Given the description of an element on the screen output the (x, y) to click on. 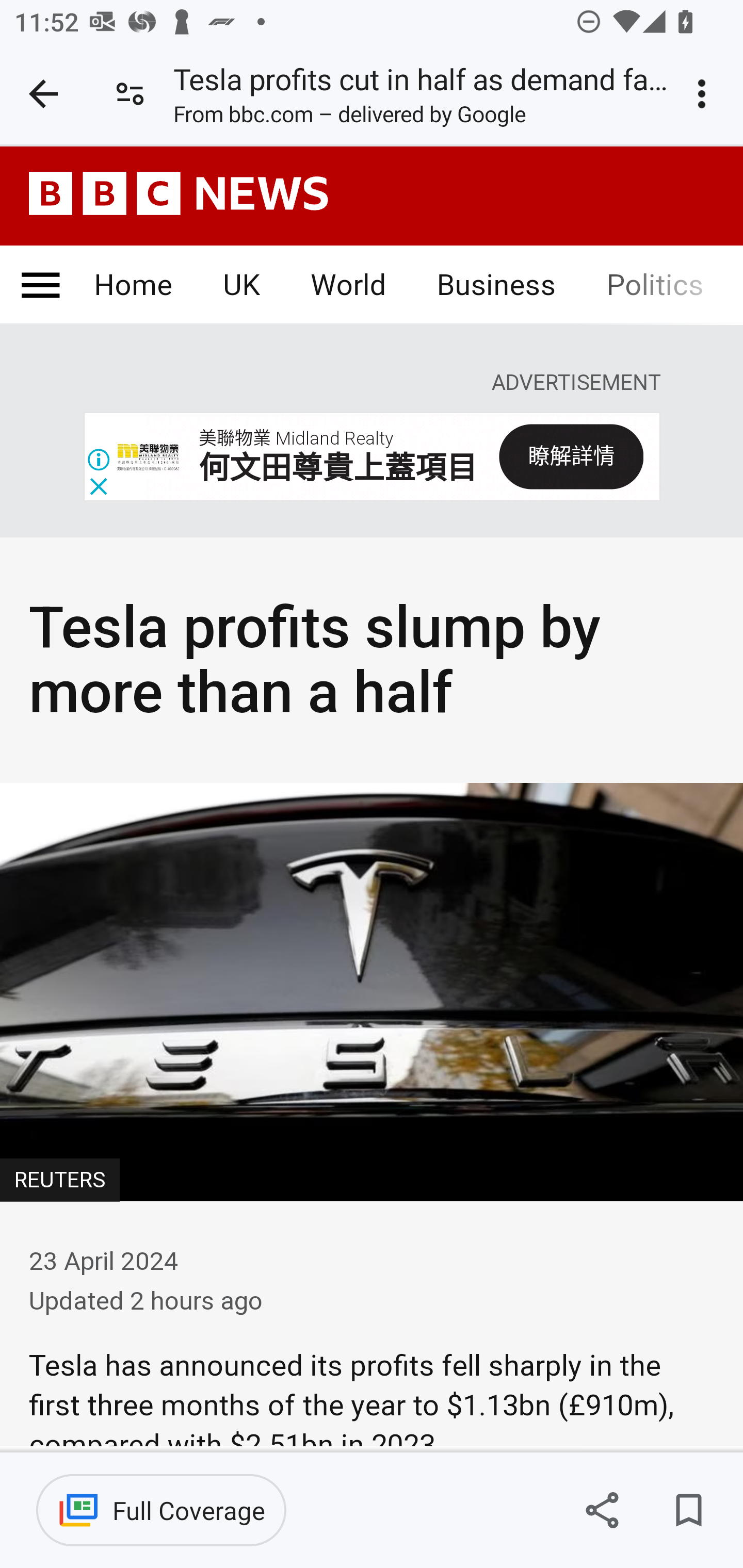
Close tab (43, 93)
Customize and control Google Chrome (705, 93)
Connection is secure (129, 93)
From bbc.com – delivered by Google (349, 117)
BBC News (178, 193)
Sections (40, 286)
Home (133, 286)
UK (240, 286)
World (349, 286)
Business (495, 286)
Politics (653, 286)
Full Coverage (161, 1509)
Share (601, 1510)
Save for later (688, 1510)
